Given the description of an element on the screen output the (x, y) to click on. 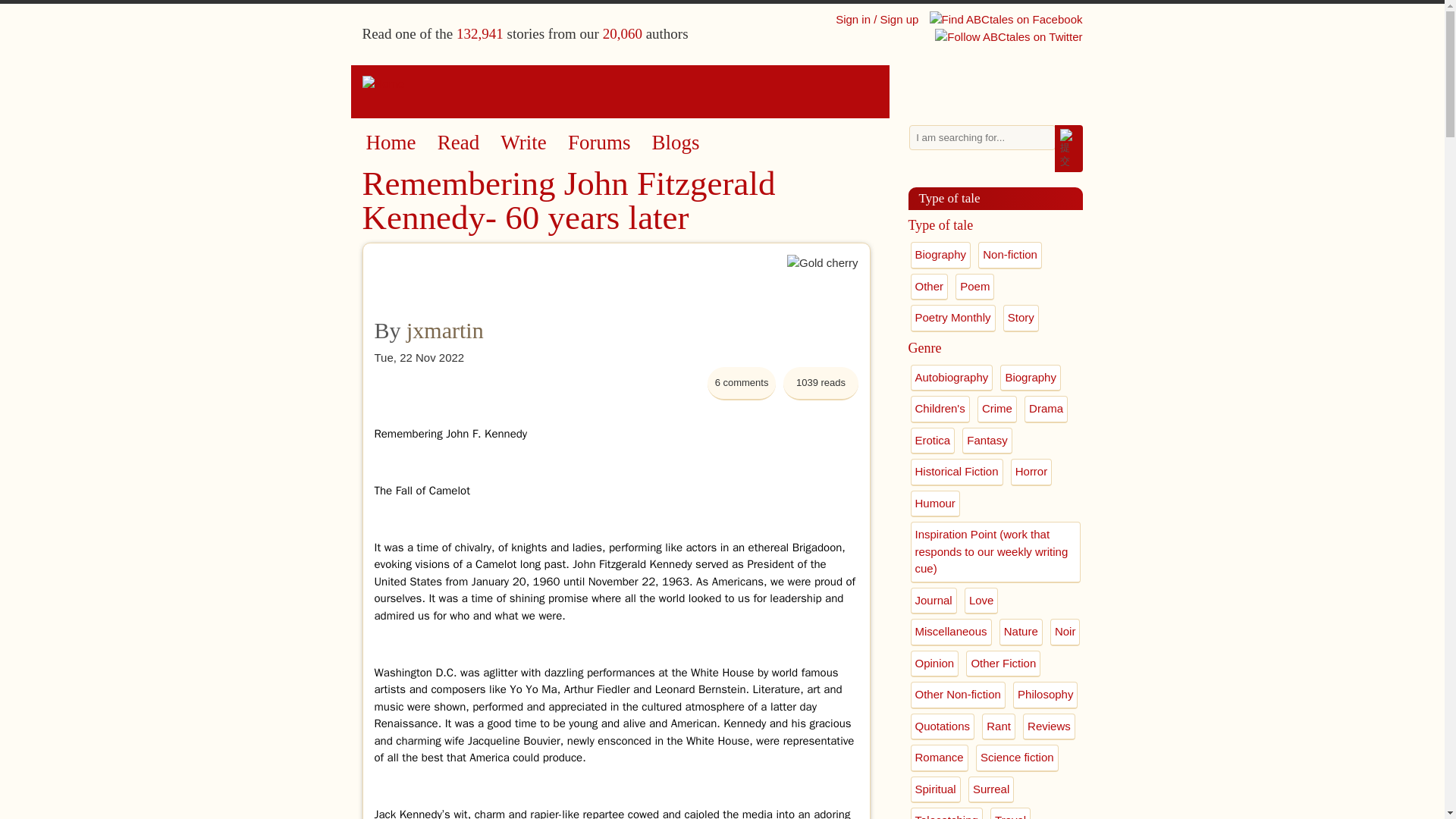
Home (389, 142)
jxmartin (444, 330)
Blogs (676, 142)
Forums (598, 142)
Write (523, 142)
Gold cherry (823, 286)
Home (722, 84)
Enter the terms you wish to search for. (981, 137)
Read (458, 142)
Kennedy (505, 432)
